Given the description of an element on the screen output the (x, y) to click on. 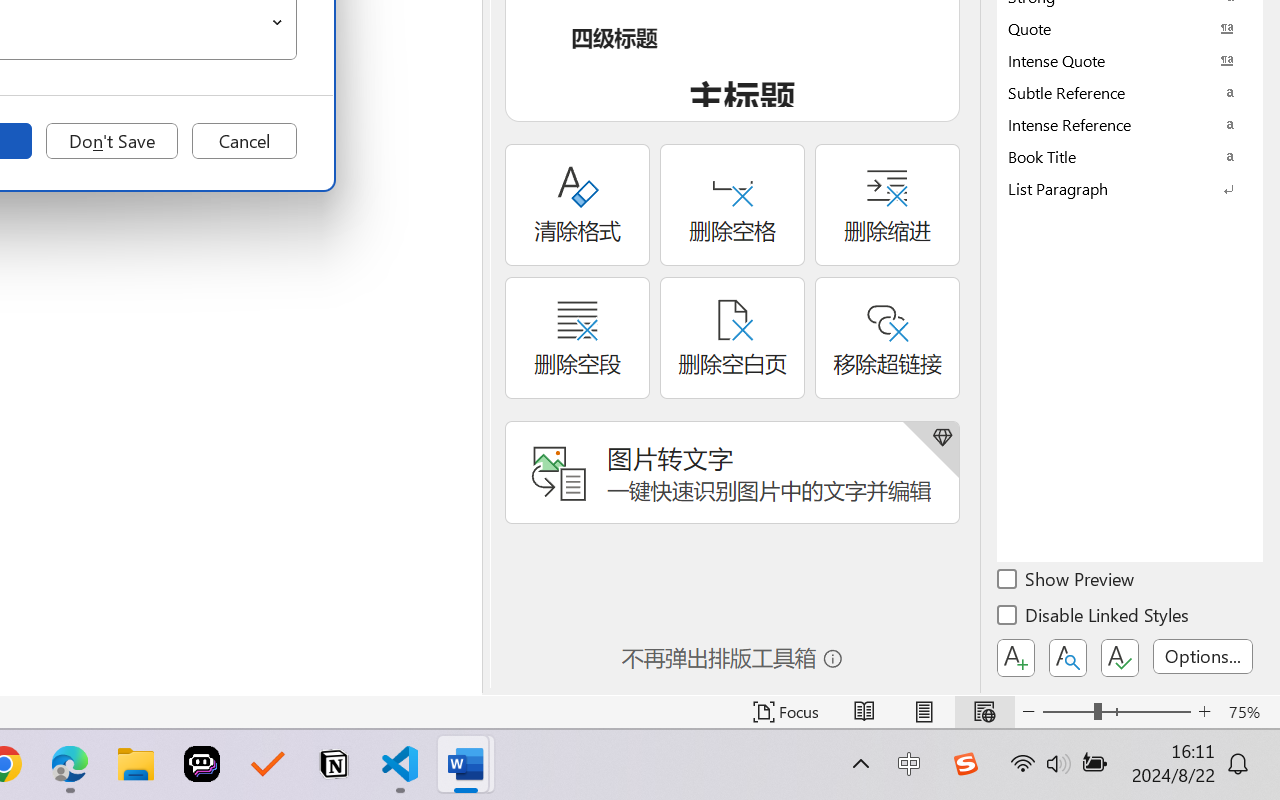
Show Preview (1067, 582)
Disable Linked Styles (1094, 618)
Zoom (1116, 712)
Intense Reference (1130, 124)
